Given the description of an element on the screen output the (x, y) to click on. 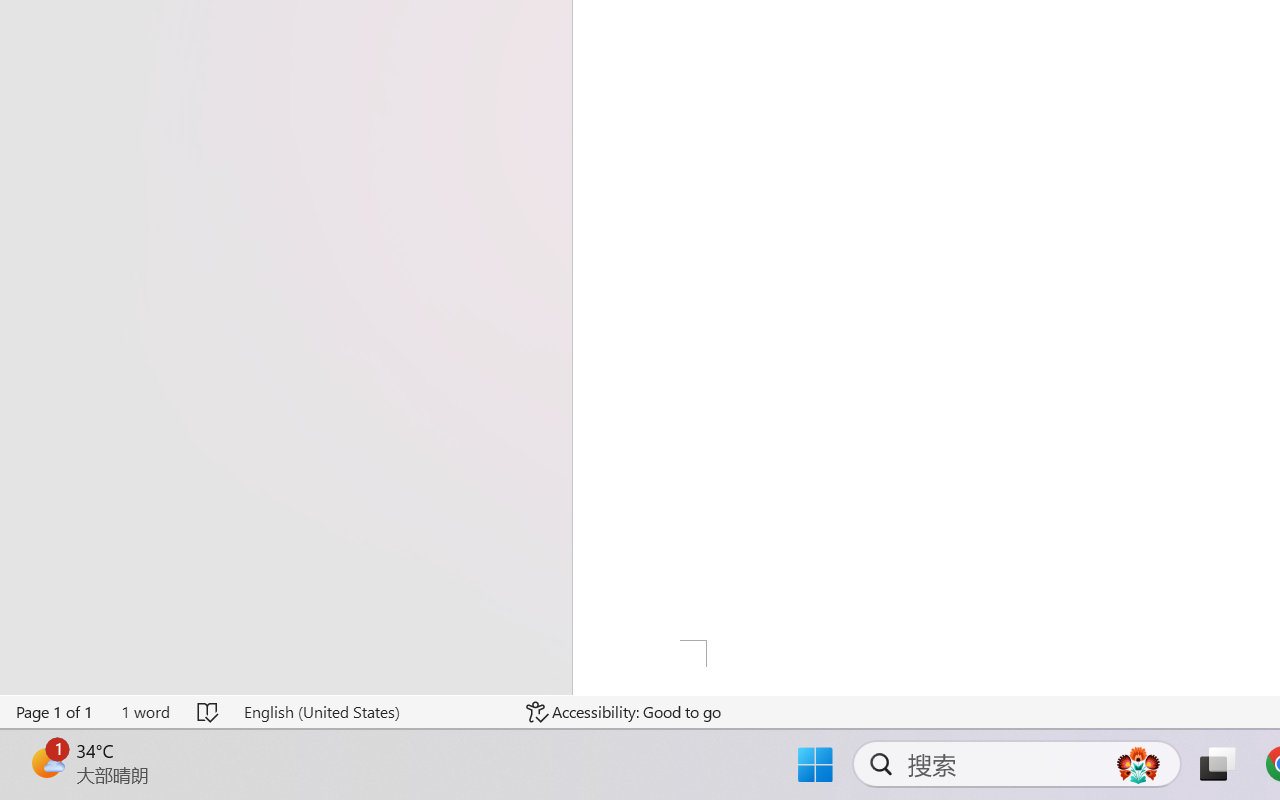
Word Count 1 word (145, 712)
Spelling and Grammar Check No Errors (208, 712)
AutomationID: BadgeAnchorLargeTicker (46, 762)
AutomationID: DynamicSearchBoxGleamImage (1138, 764)
Page Number Page 1 of 1 (55, 712)
Accessibility Checker Accessibility: Good to go (623, 712)
Language English (United States) (370, 712)
